Given the description of an element on the screen output the (x, y) to click on. 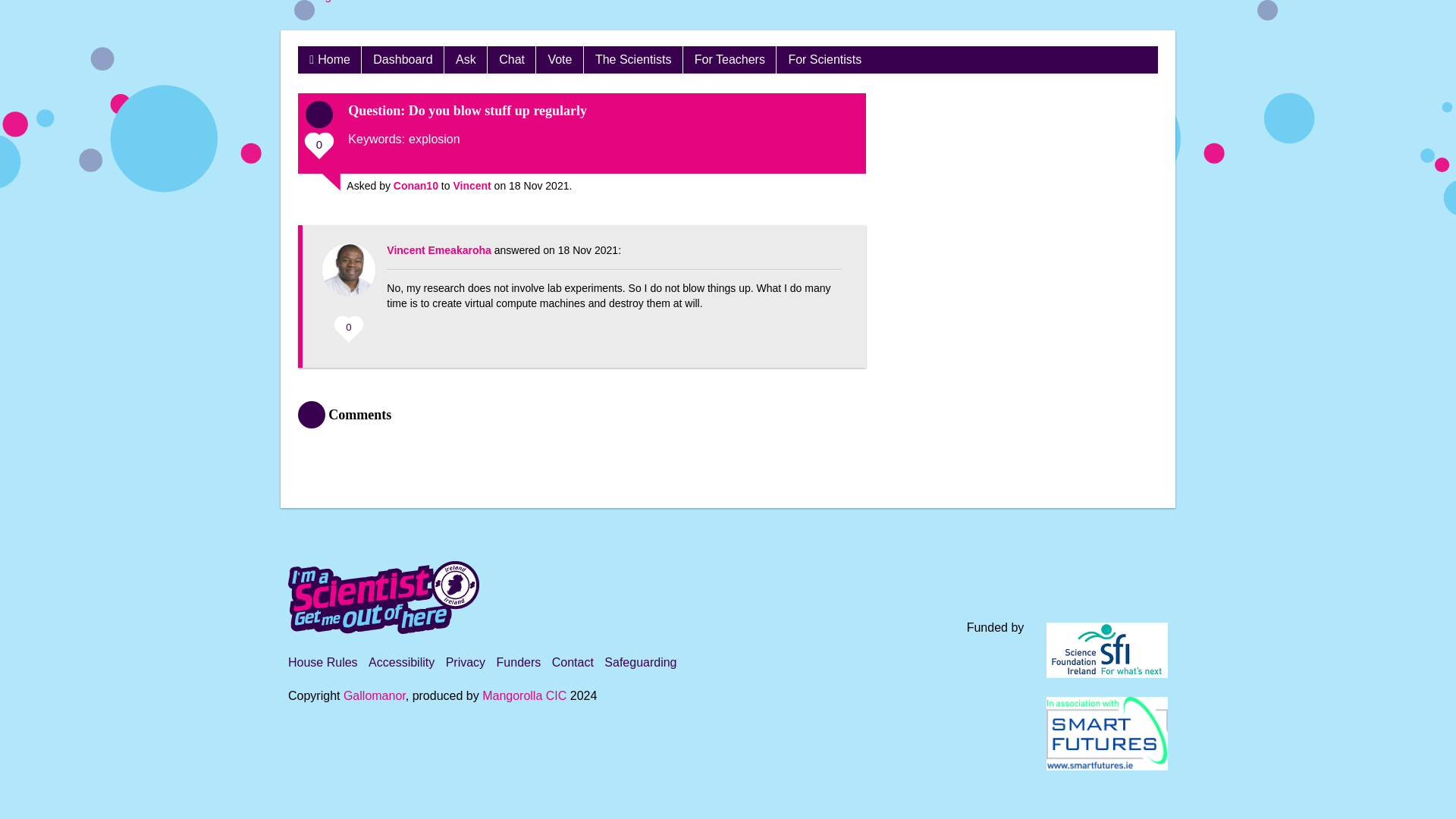
Vincent Emeakaroha (438, 250)
Smart Futures (1106, 733)
Link to profile of Vincent - Scientist (471, 185)
Vincent (471, 185)
Mangorolla CIC (523, 695)
explosion (434, 138)
Safeguarding (640, 662)
For Scientists (824, 59)
House Rules (323, 662)
Contact (572, 662)
Gallomanor (374, 695)
Link to profile of Vincent - Scientist (438, 250)
0 likes (322, 149)
SFI (1106, 650)
Chat (510, 59)
